Given the description of an element on the screen output the (x, y) to click on. 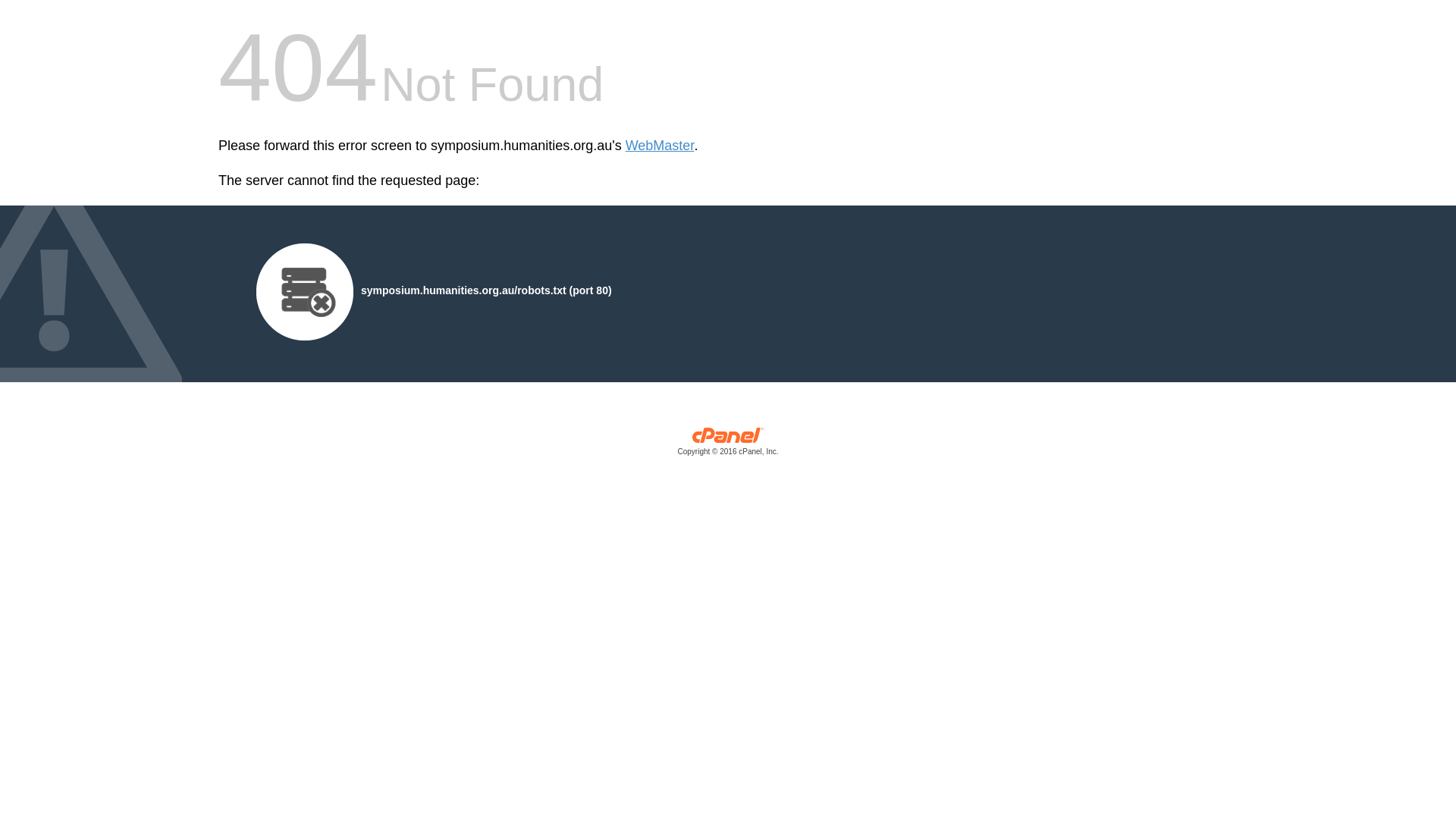
WebMaster Element type: text (659, 145)
